Given the description of an element on the screen output the (x, y) to click on. 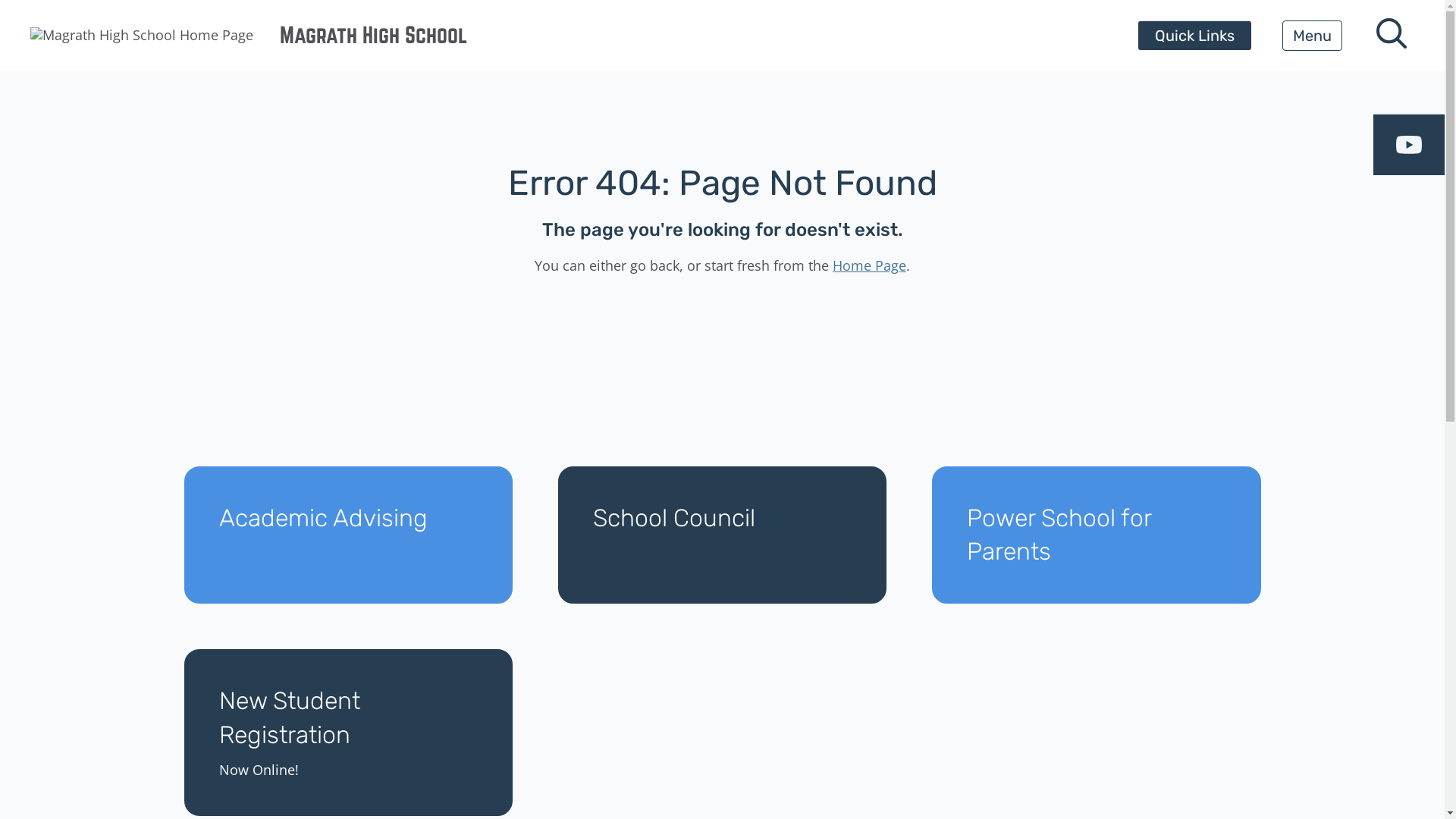
New Student Registration
Now Online! Element type: text (347, 732)
Magrath High School's YouTube Element type: hover (1408, 144)
Power School for Parents Element type: text (1095, 535)
Academic Advising Element type: text (347, 535)
home Element type: hover (141, 35)
School Council Element type: text (722, 535)
Menu Element type: text (1312, 35)
Search Element type: text (45, 19)
Home Page Element type: text (869, 265)
Quick Links Element type: text (1194, 35)
